Given the description of an element on the screen output the (x, y) to click on. 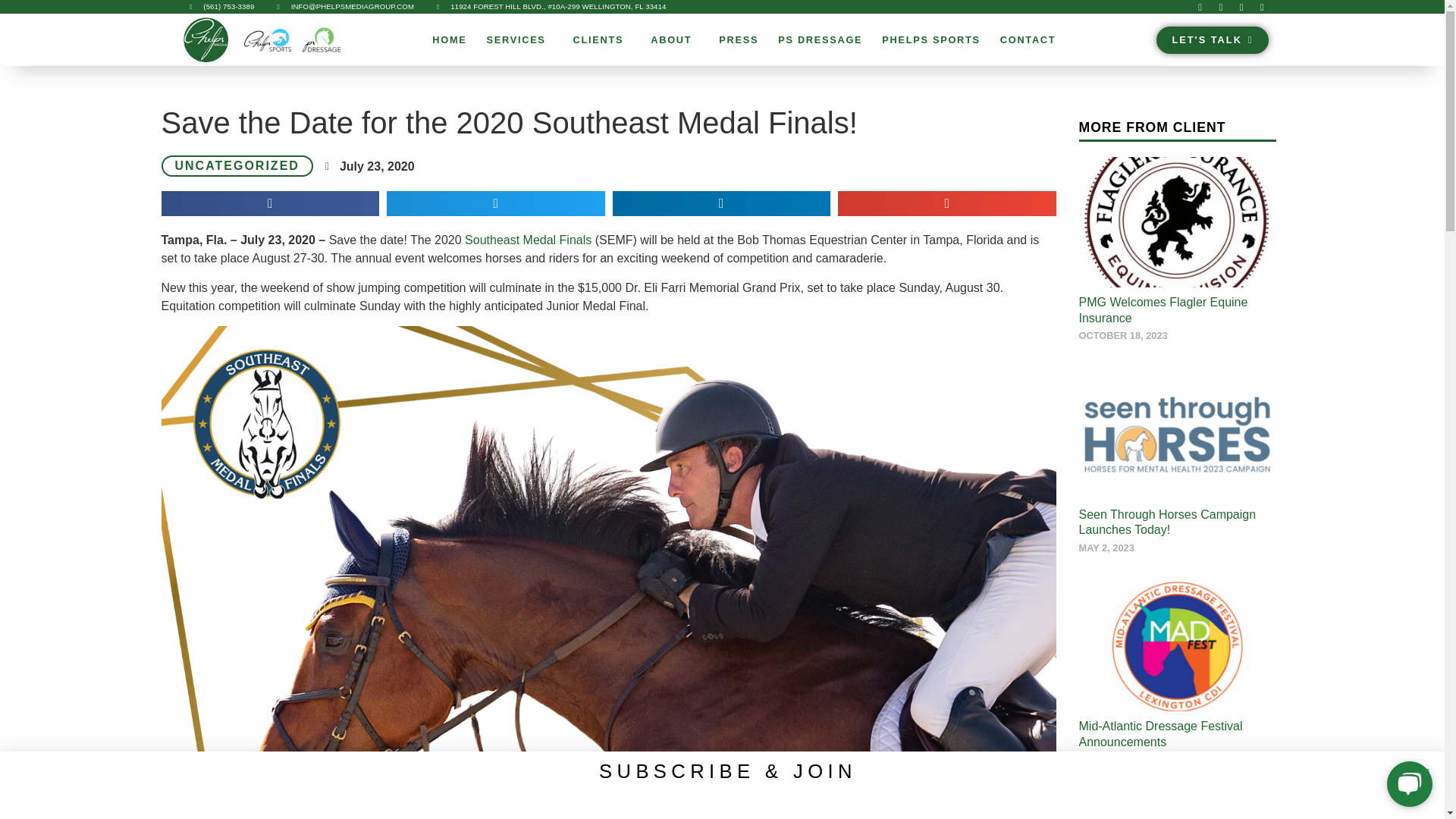
HOME (449, 39)
CLIENTS (602, 39)
PS DRESSAGE (820, 39)
CONTACT (1032, 39)
PRESS (738, 39)
SERVICES (520, 39)
ABOUT (674, 39)
PHELPS SPORTS (931, 39)
